Given the description of an element on the screen output the (x, y) to click on. 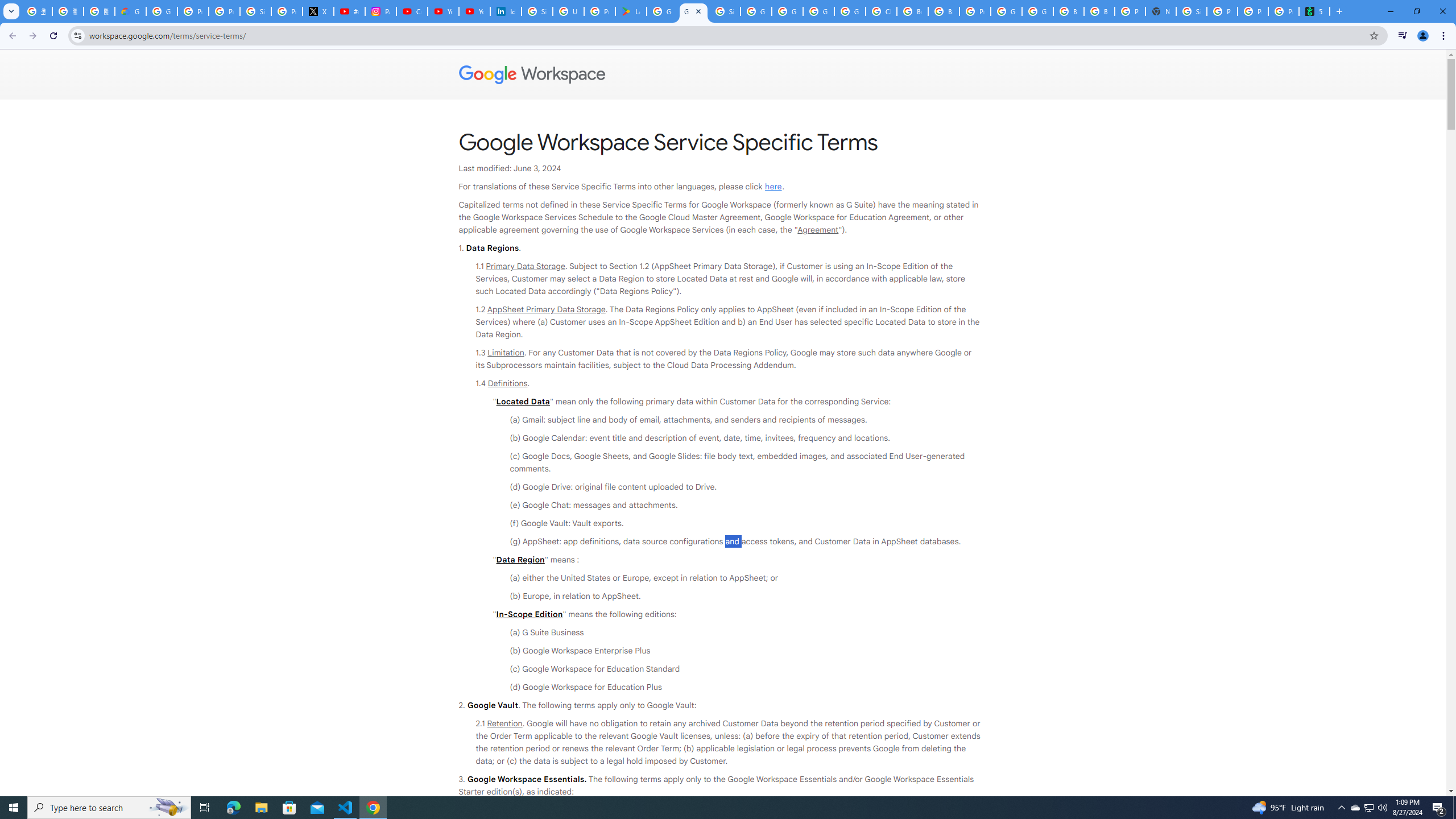
Google Cloud Platform (818, 11)
Google Workspace (723, 74)
Reload (52, 35)
Google Cloud Platform (1037, 11)
Google Cloud Platform (1005, 11)
Bookmark this tab (1373, 35)
Address and search bar (725, 35)
New Tab (1160, 11)
Restore (1416, 11)
Browse Chrome as a guest - Computer - Google Chrome Help (1068, 11)
